Given the description of an element on the screen output the (x, y) to click on. 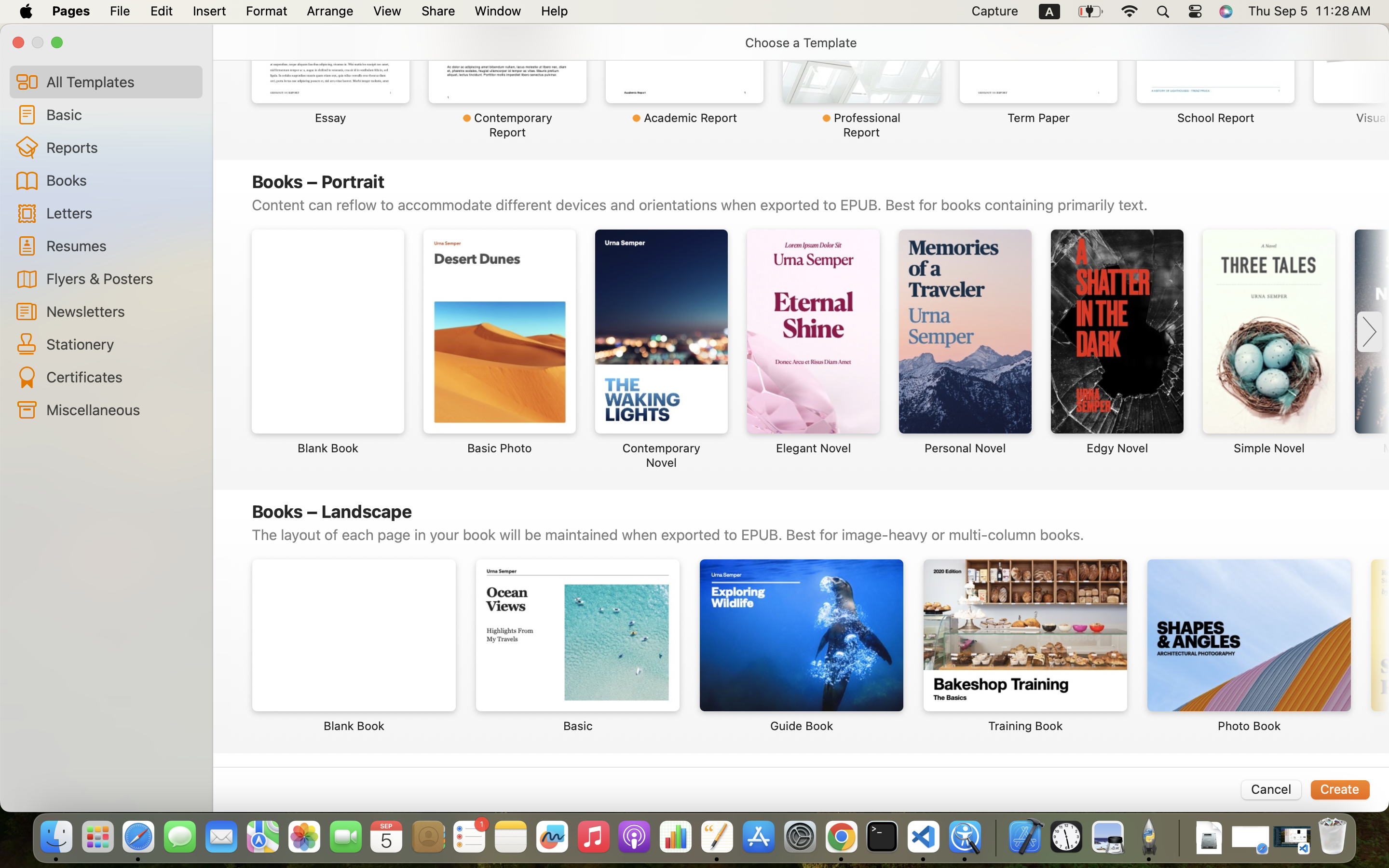
Resumes Element type: AXStaticText (120, 245)
Newsletters Element type: AXStaticText (120, 310)
Stationery Element type: AXStaticText (120, 343)
Letters Element type: AXStaticText (120, 212)
Reports Element type: AXStaticText (120, 146)
